Given the description of an element on the screen output the (x, y) to click on. 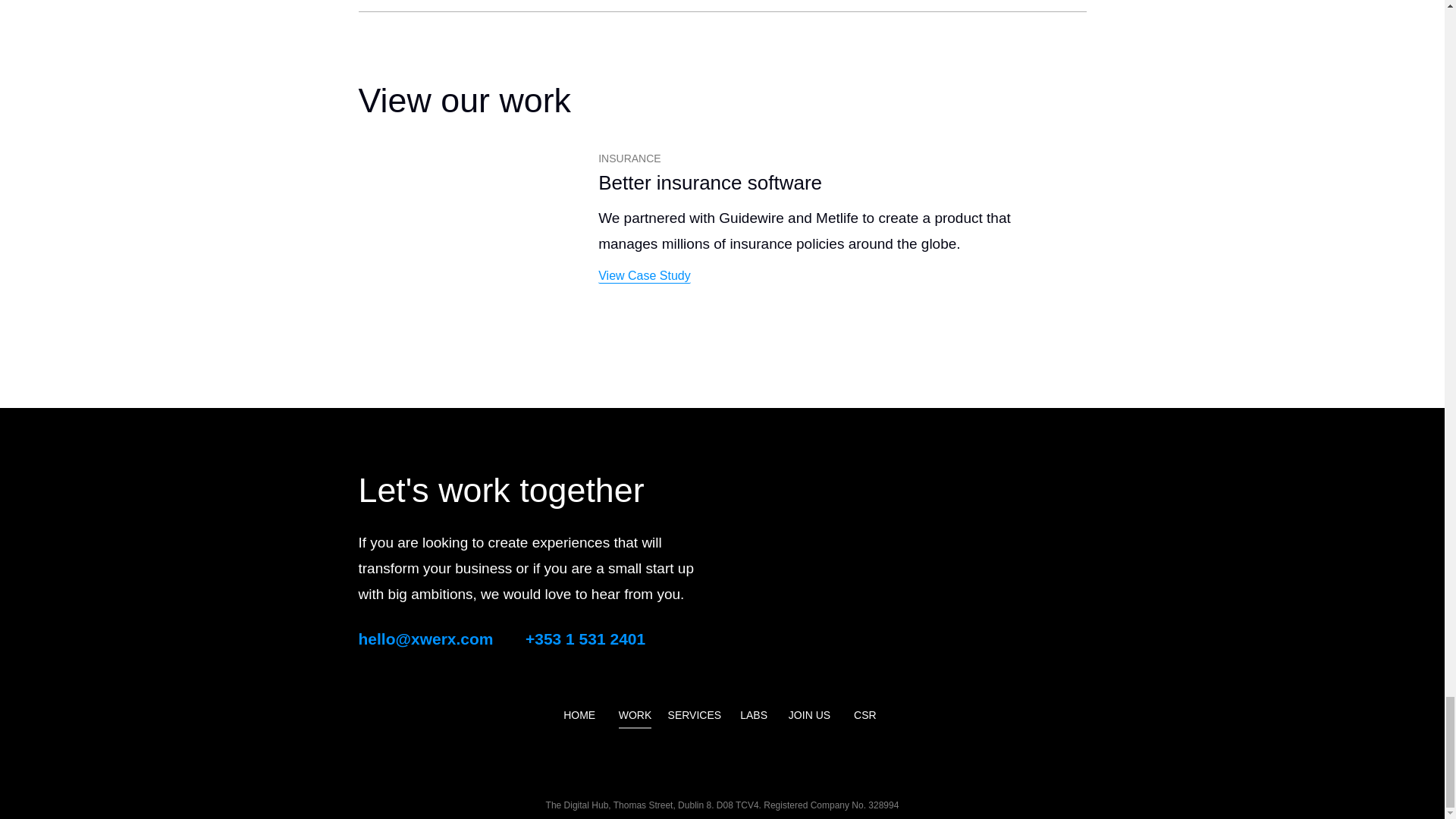
WORK (635, 715)
JOIN US (809, 714)
SERVICES (695, 714)
View Case Study (644, 276)
LABS (753, 714)
HOME (579, 714)
CSR (864, 714)
